Given the description of an element on the screen output the (x, y) to click on. 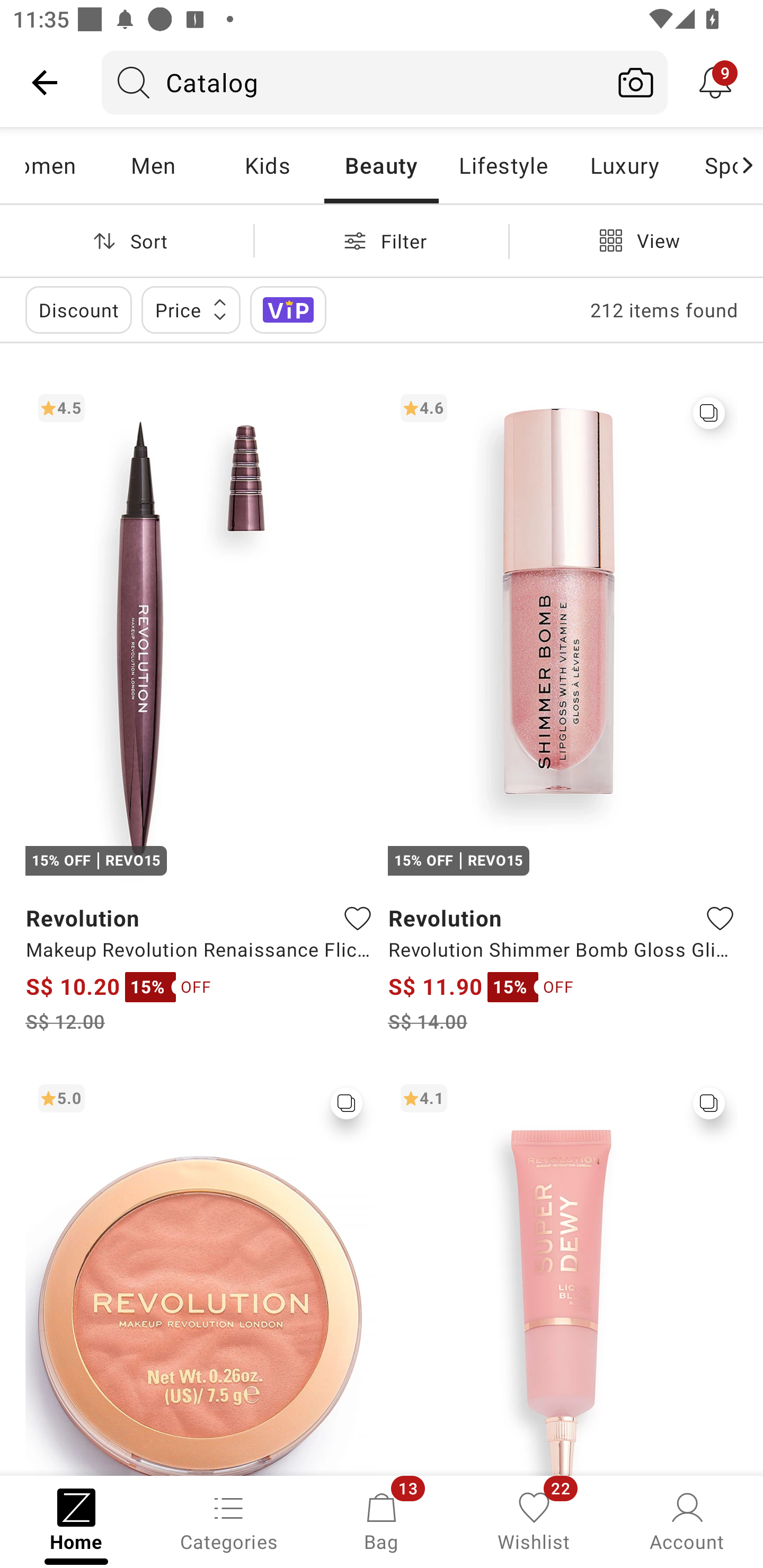
Navigate up (44, 82)
Catalog (352, 82)
Men (152, 165)
Kids (266, 165)
Lifestyle (502, 165)
Luxury (623, 165)
Sort (126, 240)
Filter (381, 240)
View (636, 240)
Discount (78, 309)
Price (190, 309)
5.0 (200, 1272)
4.1 (562, 1272)
Categories (228, 1519)
Bag, 13 new notifications Bag (381, 1519)
Wishlist, 22 new notifications Wishlist (533, 1519)
Account (686, 1519)
